Given the description of an element on the screen output the (x, y) to click on. 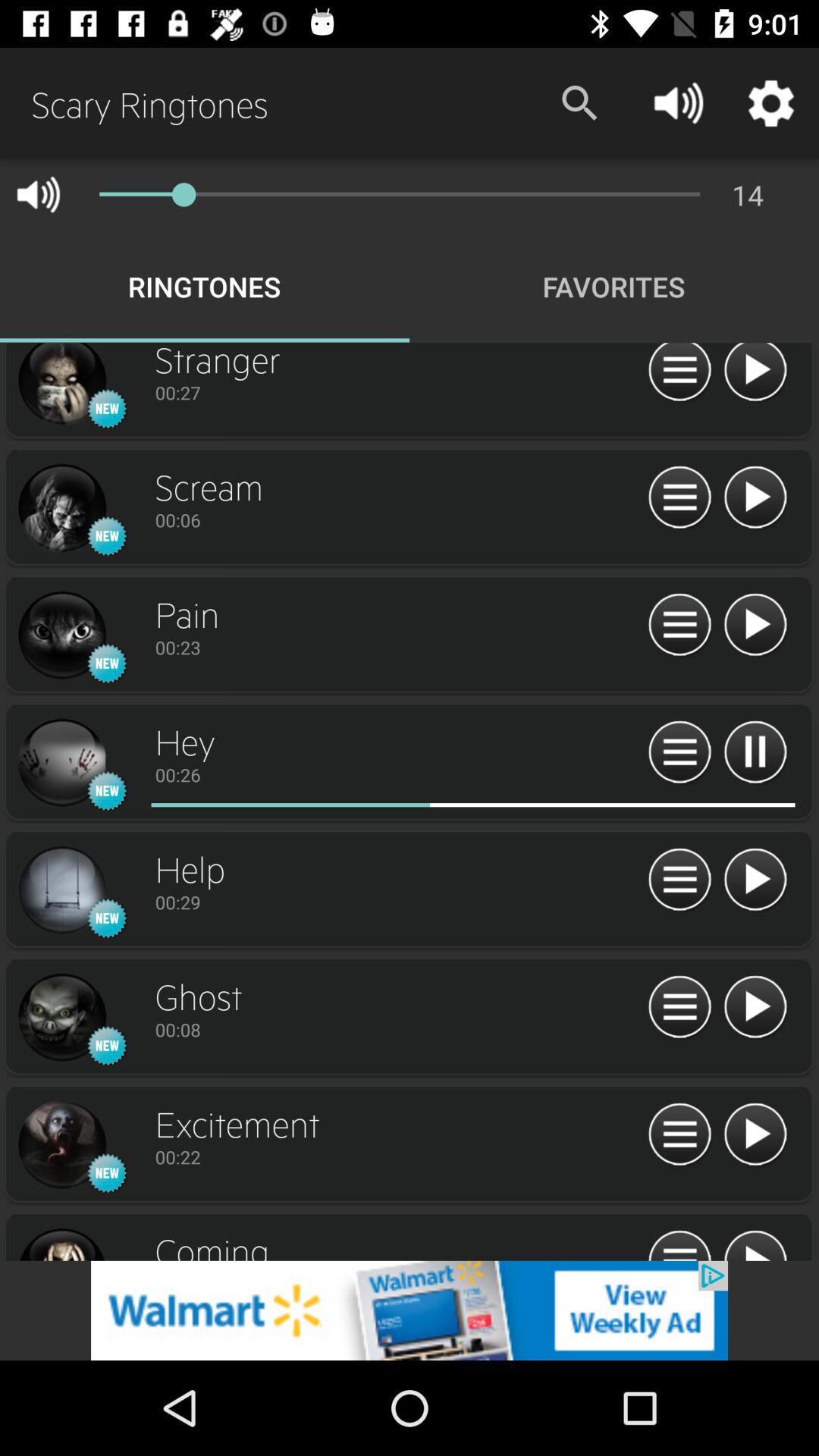
see more options about this ringtone (61, 763)
